Given the description of an element on the screen output the (x, y) to click on. 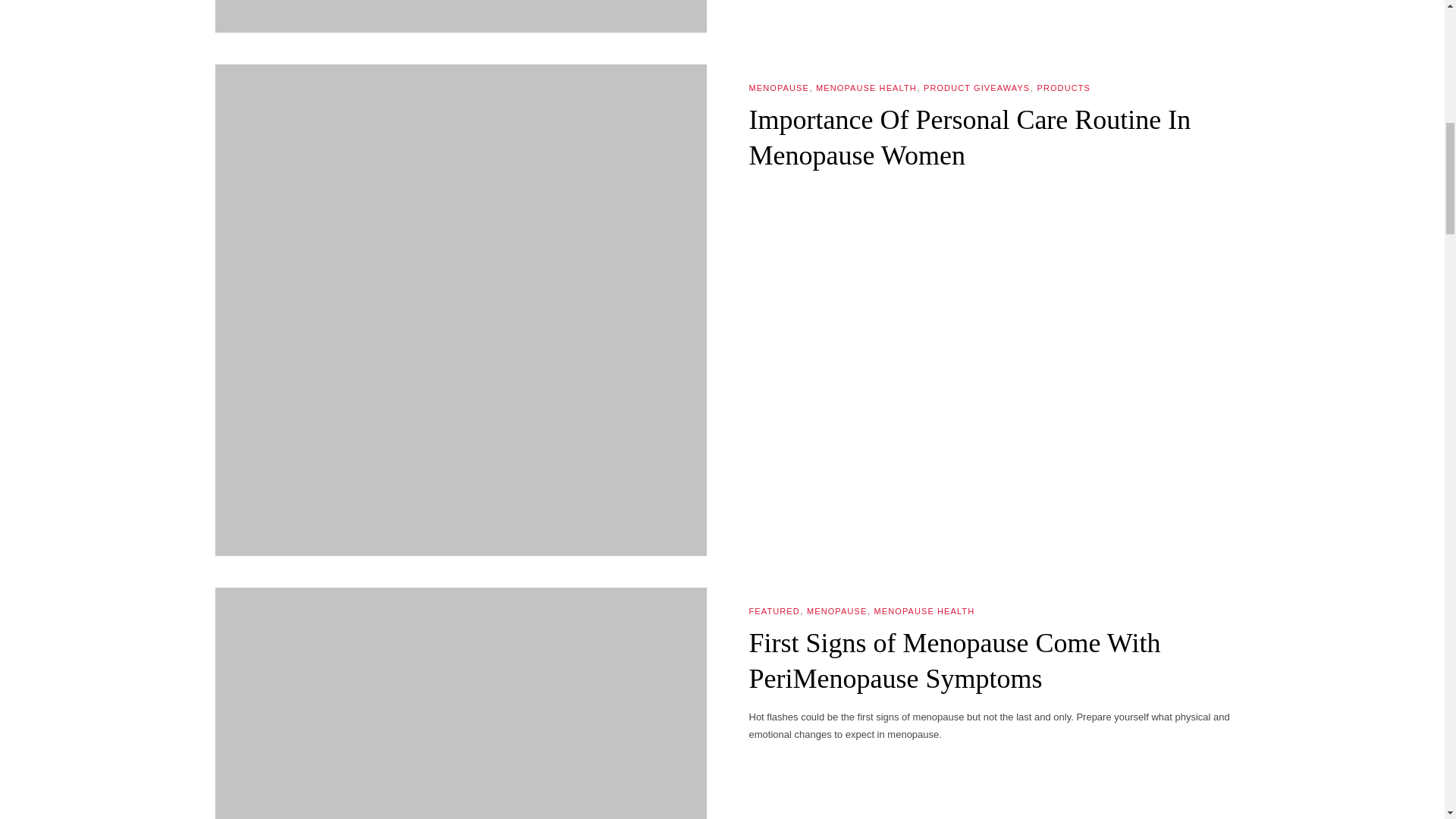
View all articles from: Products (1063, 87)
View all articles from: Product Giveaways (976, 87)
View all articles from: Menopause (779, 87)
View all articles from: Menopause (836, 610)
Importance Of Personal  Care Routine In Menopause Women (970, 137)
View all articles from: Featured (774, 610)
View all articles from: Menopause Health (923, 610)
View all articles from: Menopause Health (866, 87)
First Signs of Menopause Come With PeriMenopause Symptoms (954, 660)
